Given the description of an element on the screen output the (x, y) to click on. 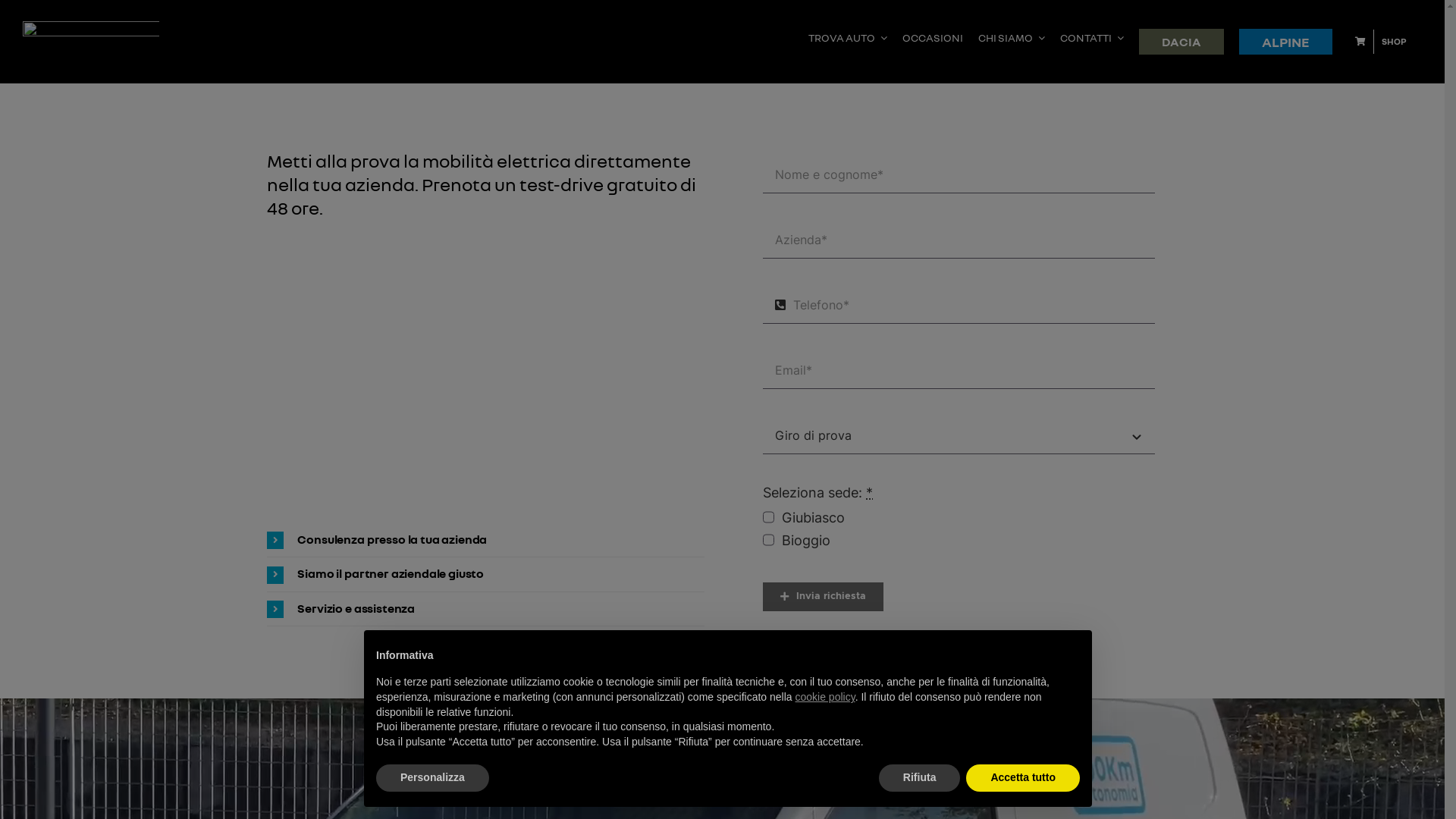
Servizio e assistenza Element type: text (484, 609)
Consulenza presso la tua azienda Element type: text (484, 540)
Invia richiesta Element type: text (822, 596)
DACIA Element type: text (1181, 41)
Accetta tutto Element type: text (1022, 777)
CONTATTI Element type: text (1091, 41)
OCCASIONI Element type: text (932, 41)
CHI SIAMO Element type: text (1011, 41)
SHOP Element type: text (1384, 41)
ALPINE Element type: text (1285, 41)
Personalizza Element type: text (432, 777)
YouTube video player 1 Element type: hover (484, 361)
TROVA AUTO Element type: text (847, 41)
cookie policy Element type: text (825, 696)
Rifiuta Element type: text (919, 777)
Siamo il partner aziendale giusto Element type: text (484, 574)
